Given the description of an element on the screen output the (x, y) to click on. 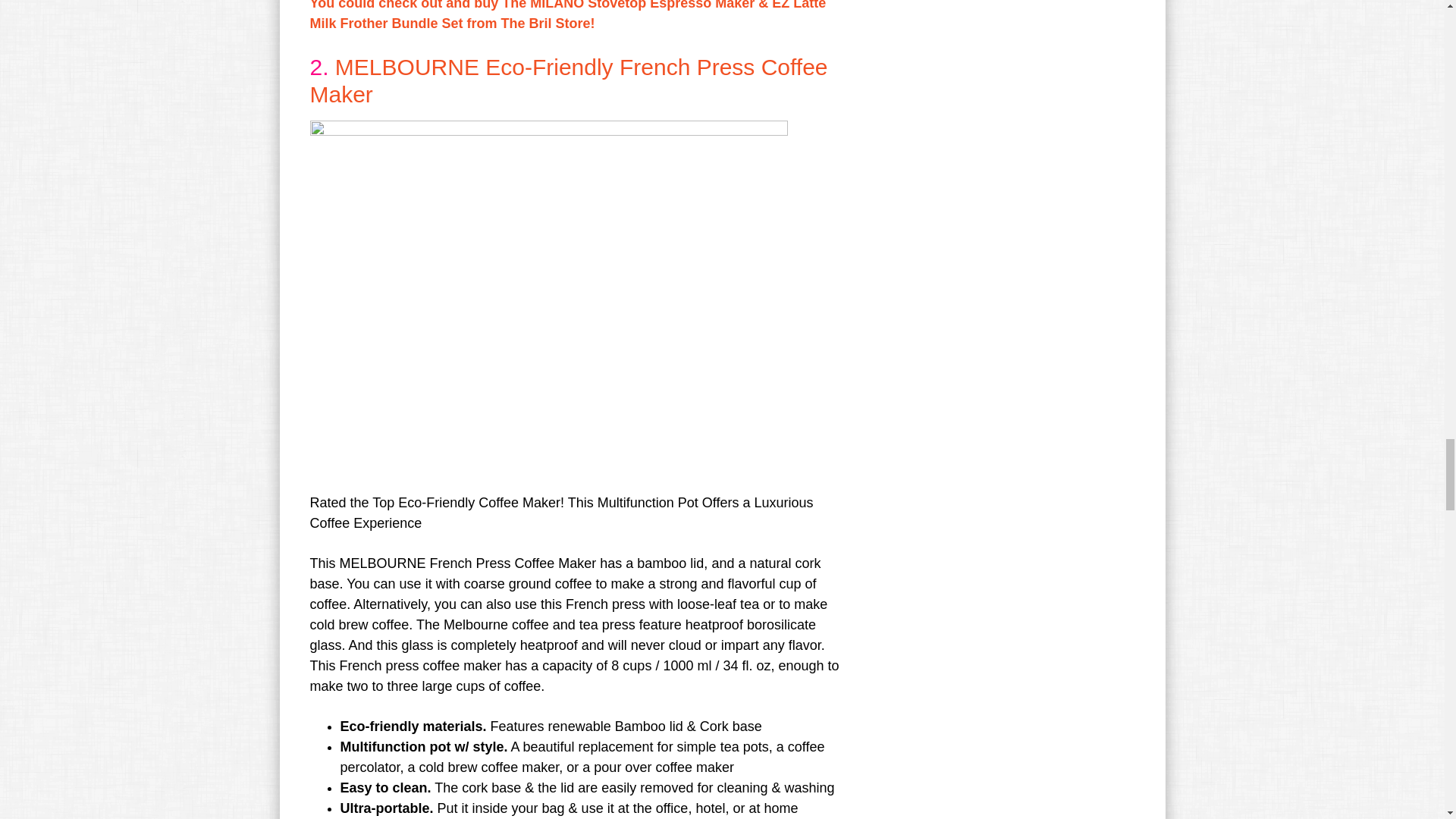
MELBOURNE Eco-Friendly French Press Coffee Maker (567, 80)
